Given the description of an element on the screen output the (x, y) to click on. 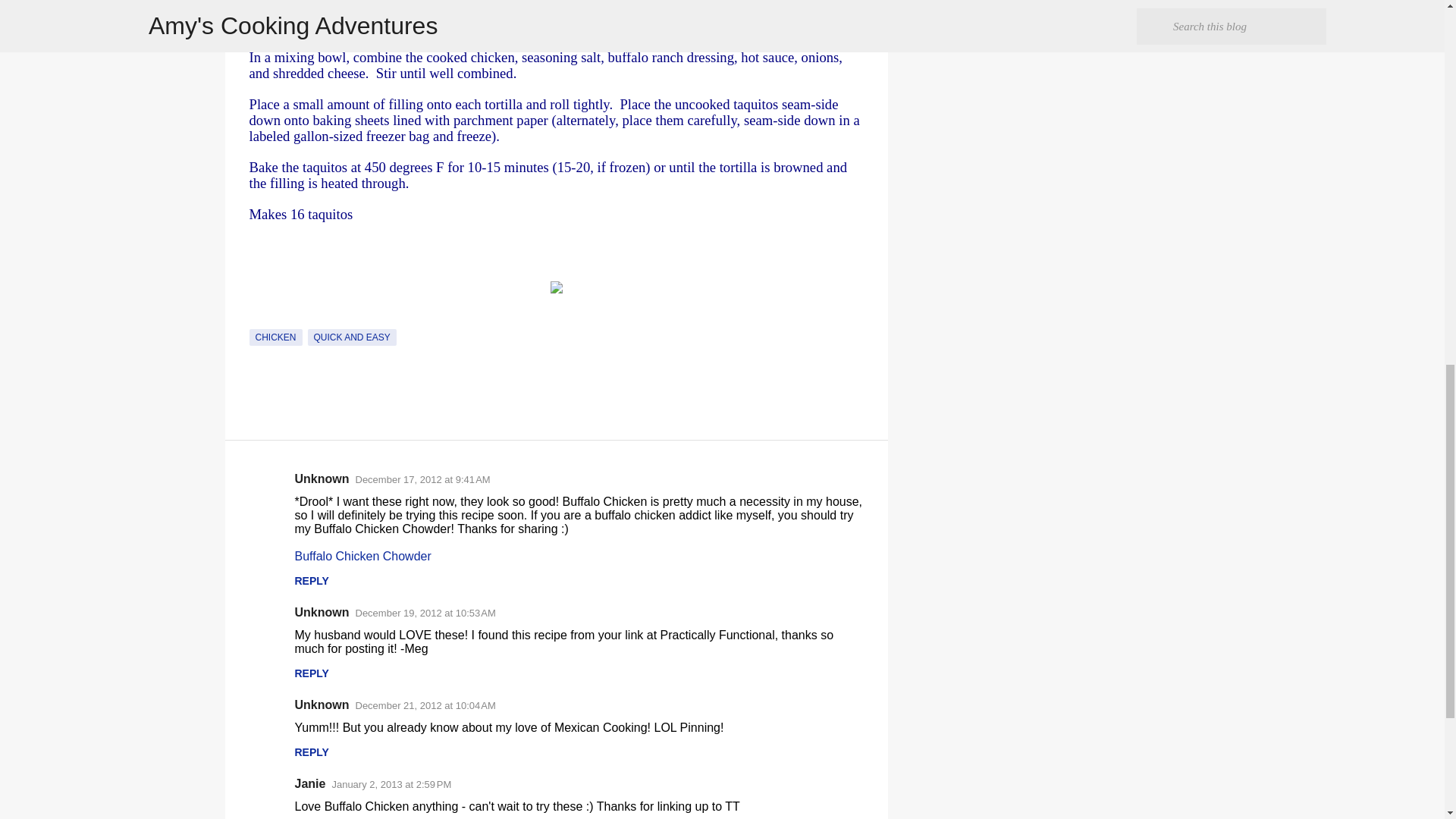
Janie (309, 783)
REPLY (311, 673)
Buffalo Chicken Chowder (362, 555)
Unknown (321, 704)
CHICKEN (274, 337)
REPLY (311, 752)
